Given the description of an element on the screen output the (x, y) to click on. 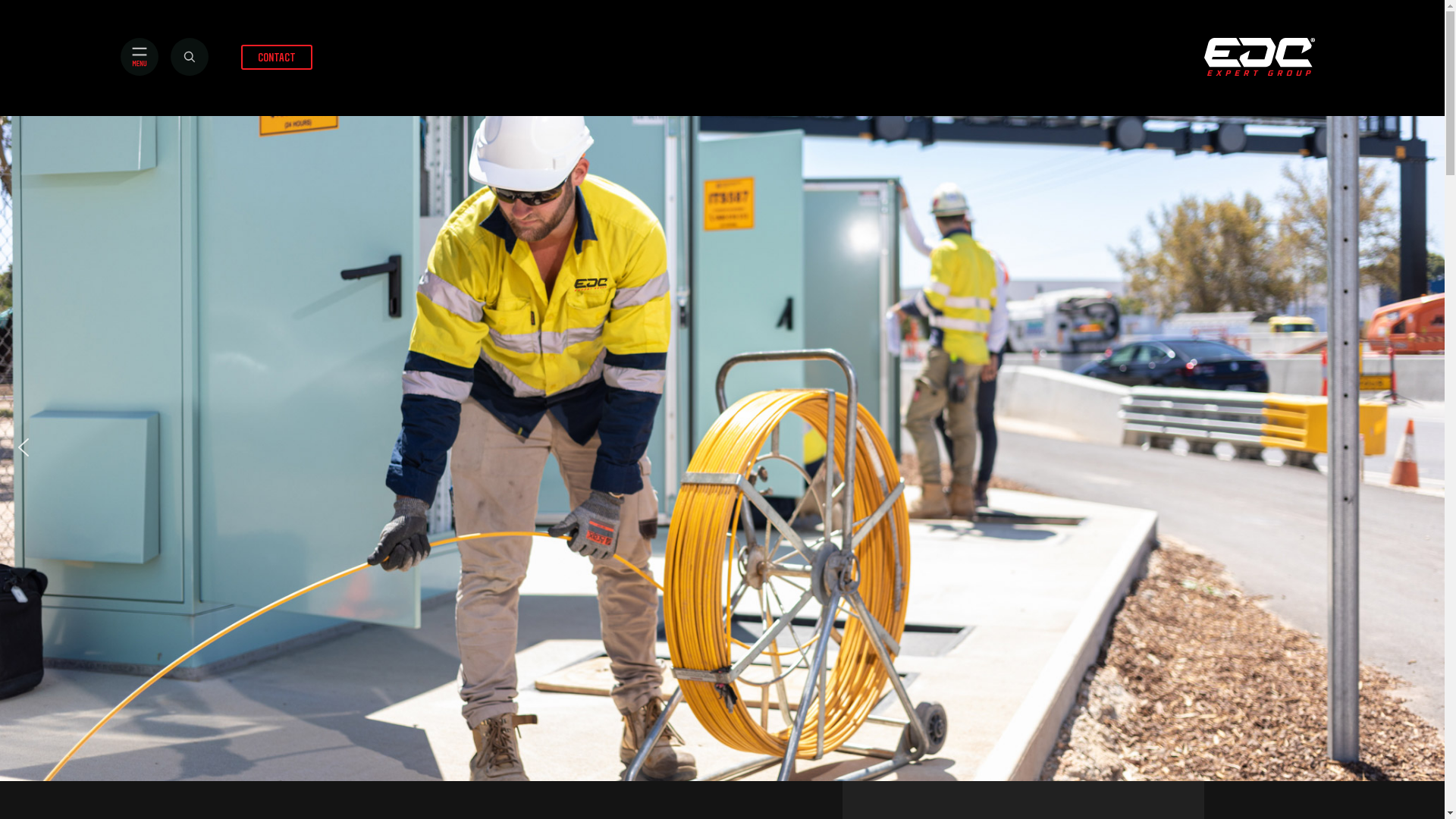
CONTACT Element type: text (276, 56)
